Given the description of an element on the screen output the (x, y) to click on. 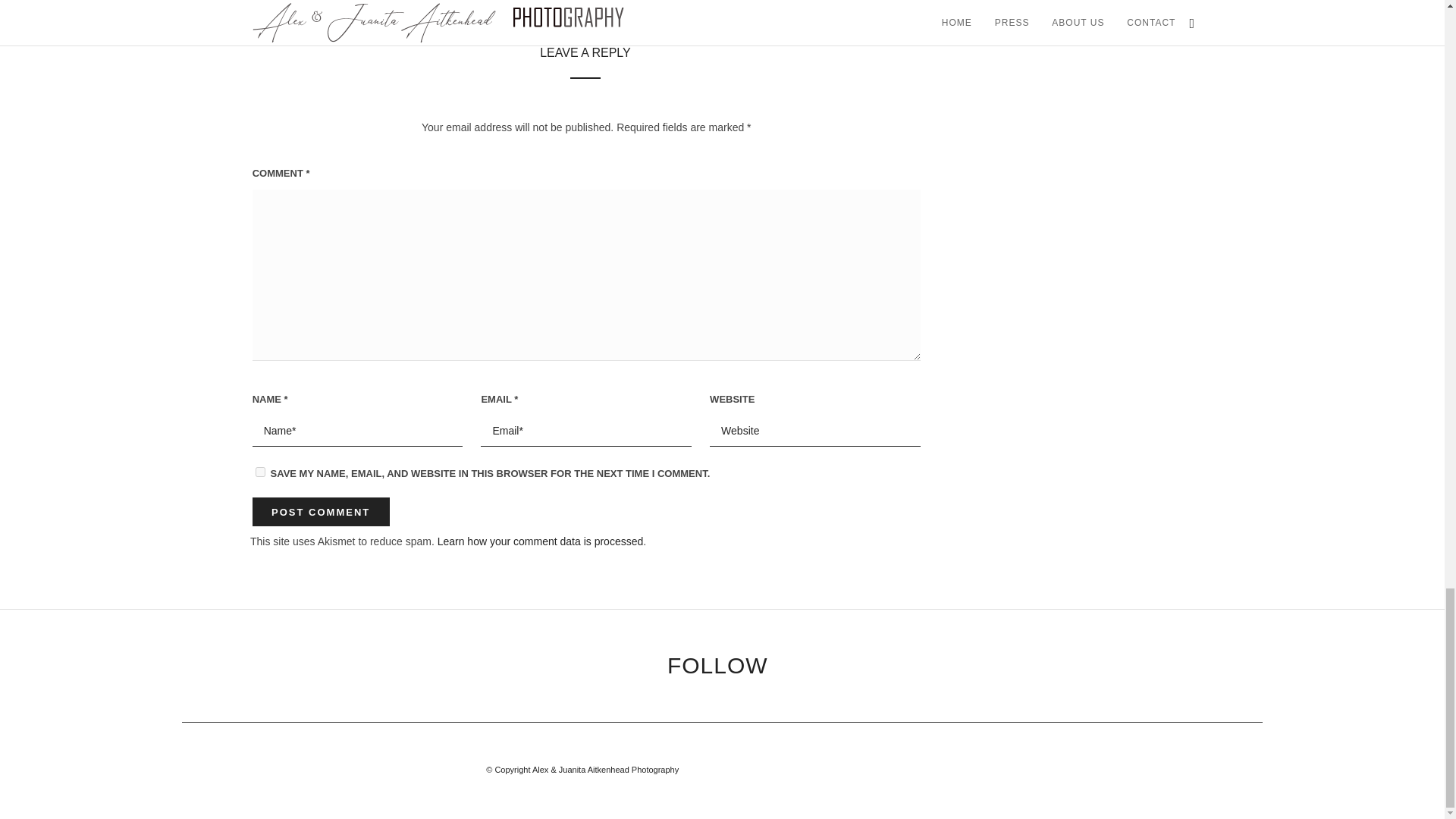
yes (260, 471)
Post Comment (320, 511)
